Given the description of an element on the screen output the (x, y) to click on. 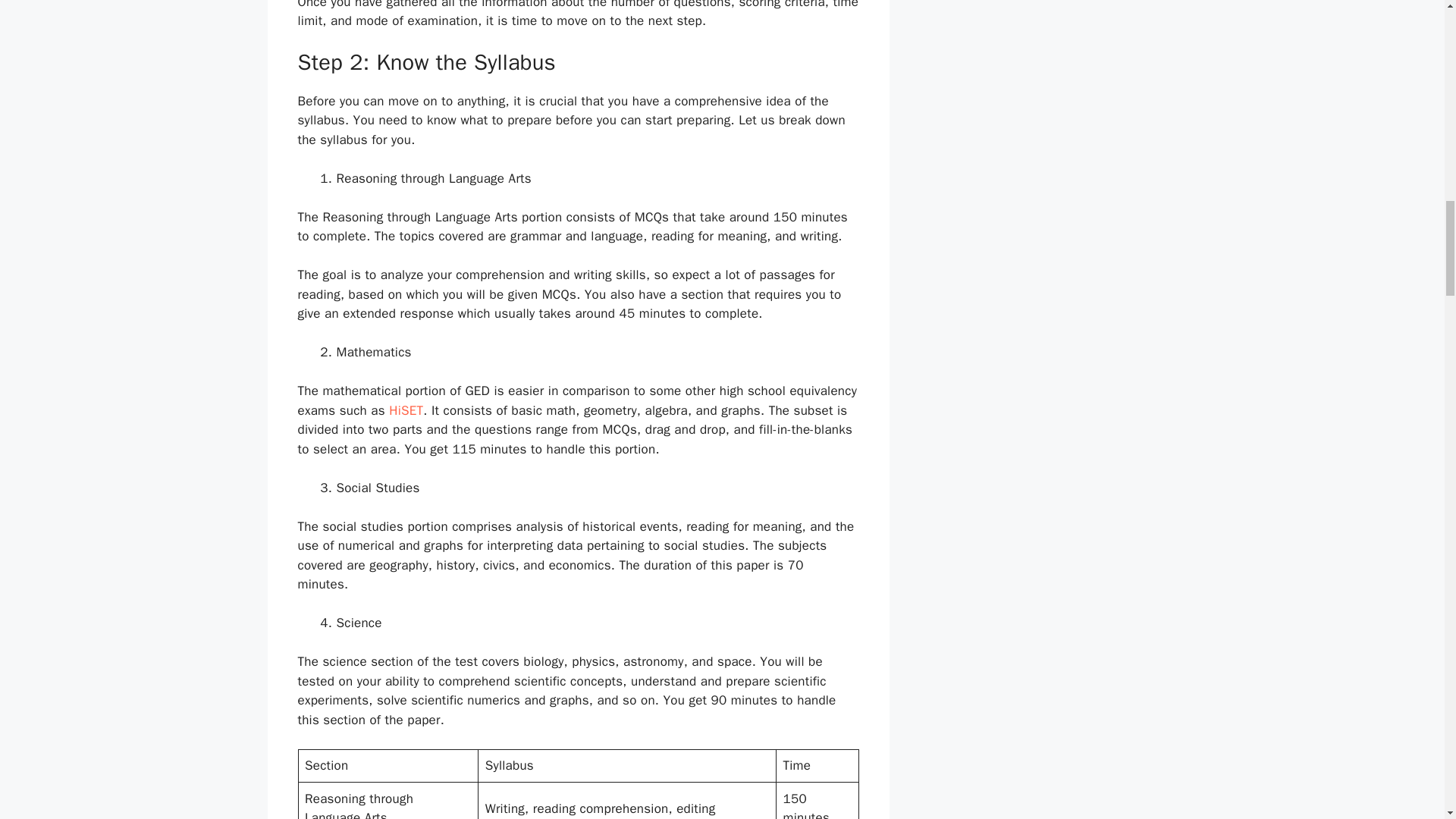
HiSET (405, 410)
